Given the description of an element on the screen output the (x, y) to click on. 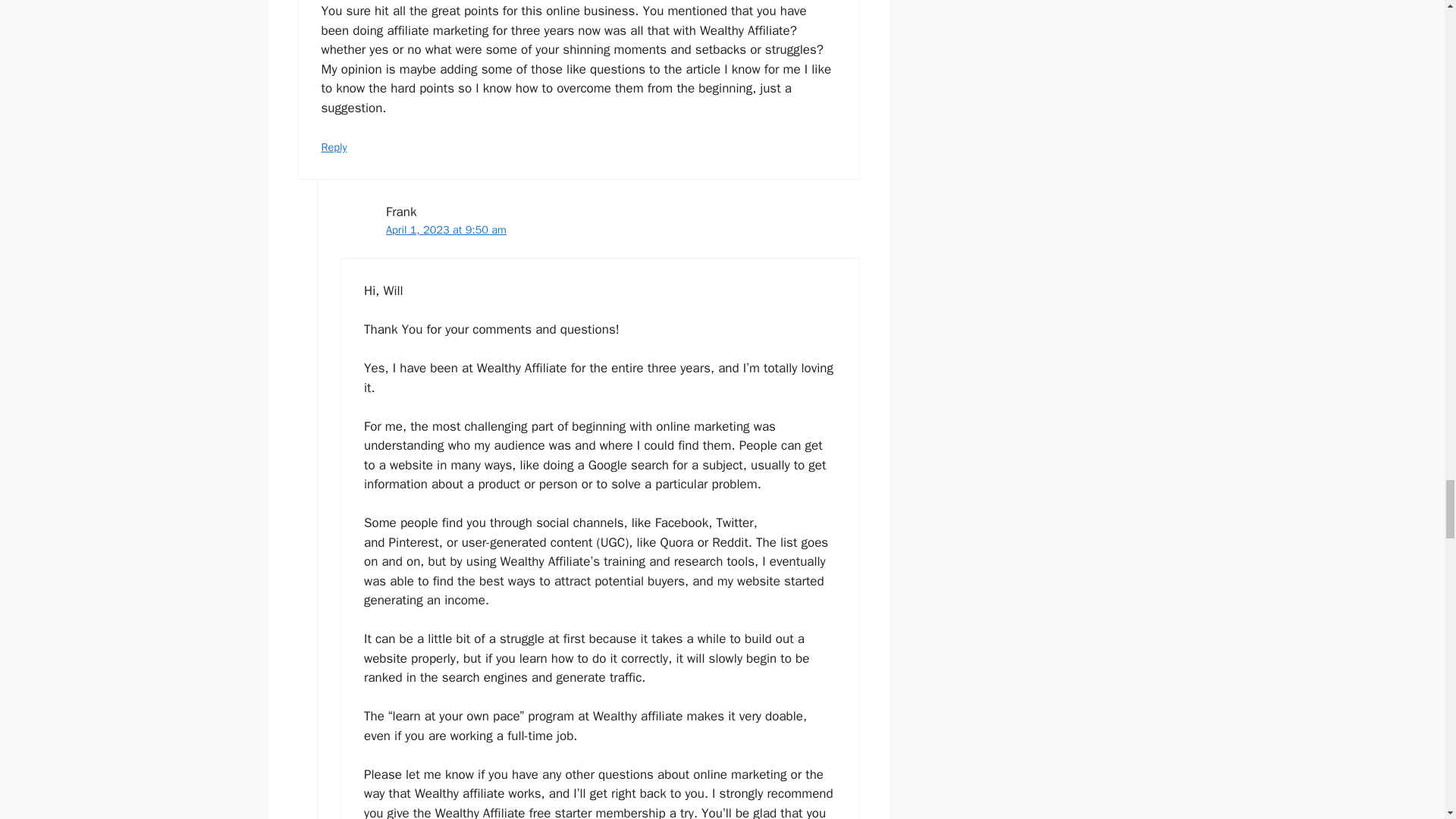
April 1, 2023 at 9:50 am (445, 229)
Reply (334, 146)
